Given the description of an element on the screen output the (x, y) to click on. 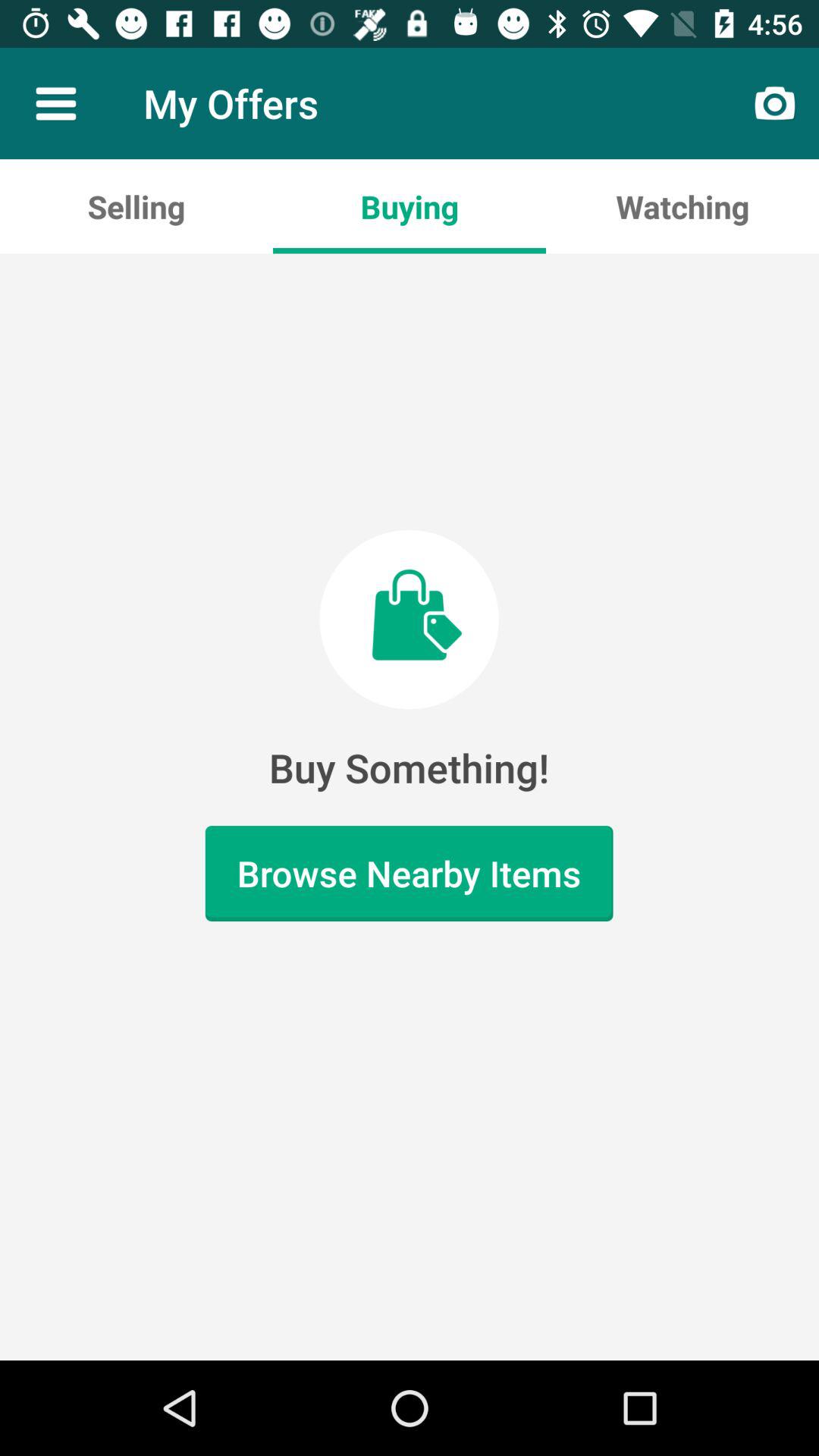
turn on item to the left of my offers (55, 103)
